Given the description of an element on the screen output the (x, y) to click on. 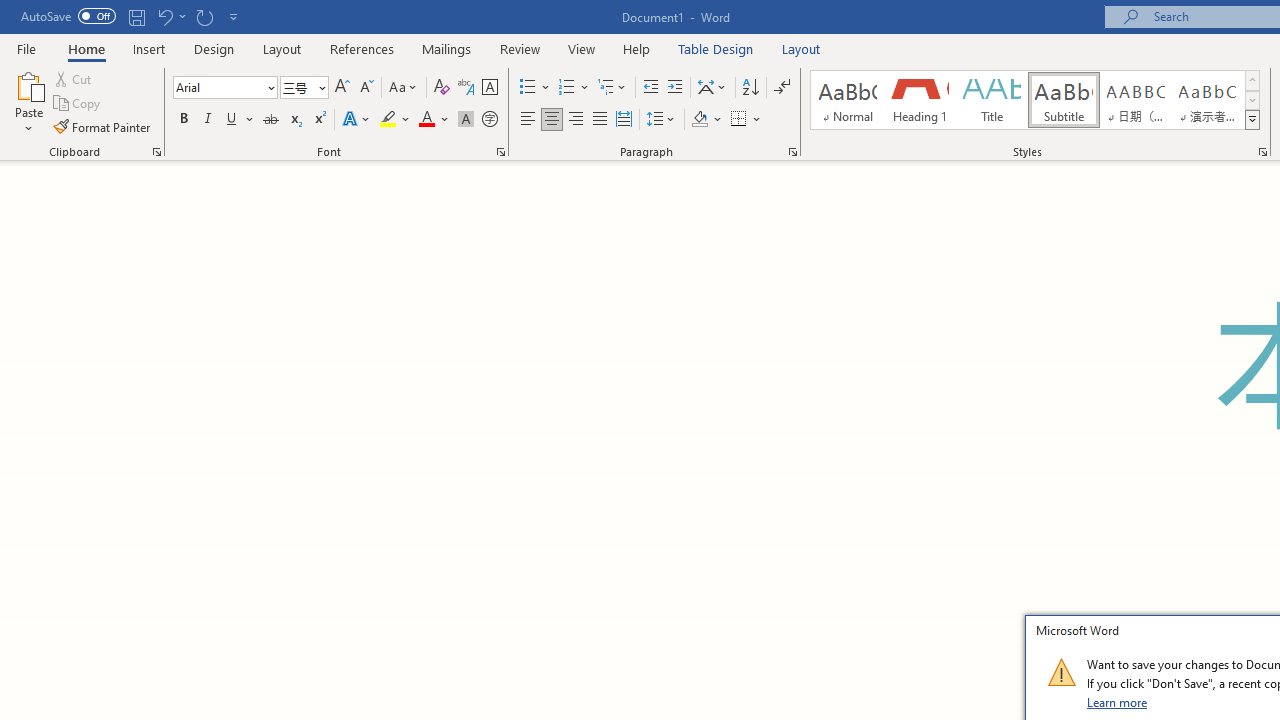
Row up (1252, 79)
Italic (207, 119)
Learn more (1118, 702)
Styles (1252, 120)
Shading RGB(0, 0, 0) (699, 119)
Text Effects and Typography (357, 119)
Paragraph... (792, 151)
Font Color (434, 119)
Increase Indent (675, 87)
Office Clipboard... (156, 151)
